Given the description of an element on the screen output the (x, y) to click on. 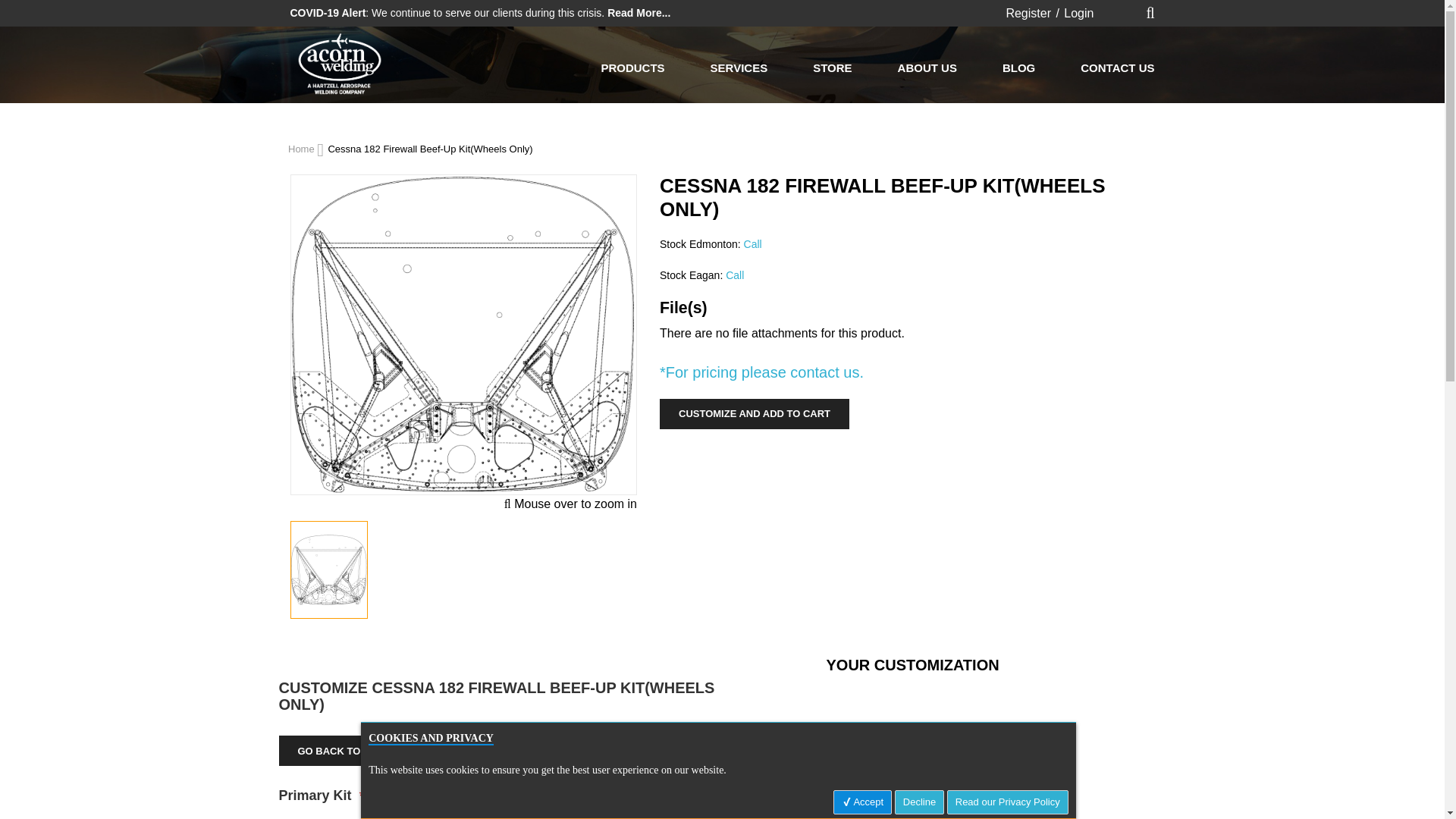
SERVICES (739, 67)
CONTACT US (1117, 67)
ABOUT US (927, 67)
PRODUCTS (631, 67)
Home (302, 148)
CUSTOMIZE AND ADD TO CART (753, 413)
Register (1028, 12)
CONTACT US (1117, 67)
PRODUCTS (631, 67)
Call (752, 244)
SERVICES (739, 67)
Go to Home Page (302, 148)
GO BACK TO PRODUCT DETAILS (377, 750)
STORE (831, 67)
Login (1078, 12)
